Given the description of an element on the screen output the (x, y) to click on. 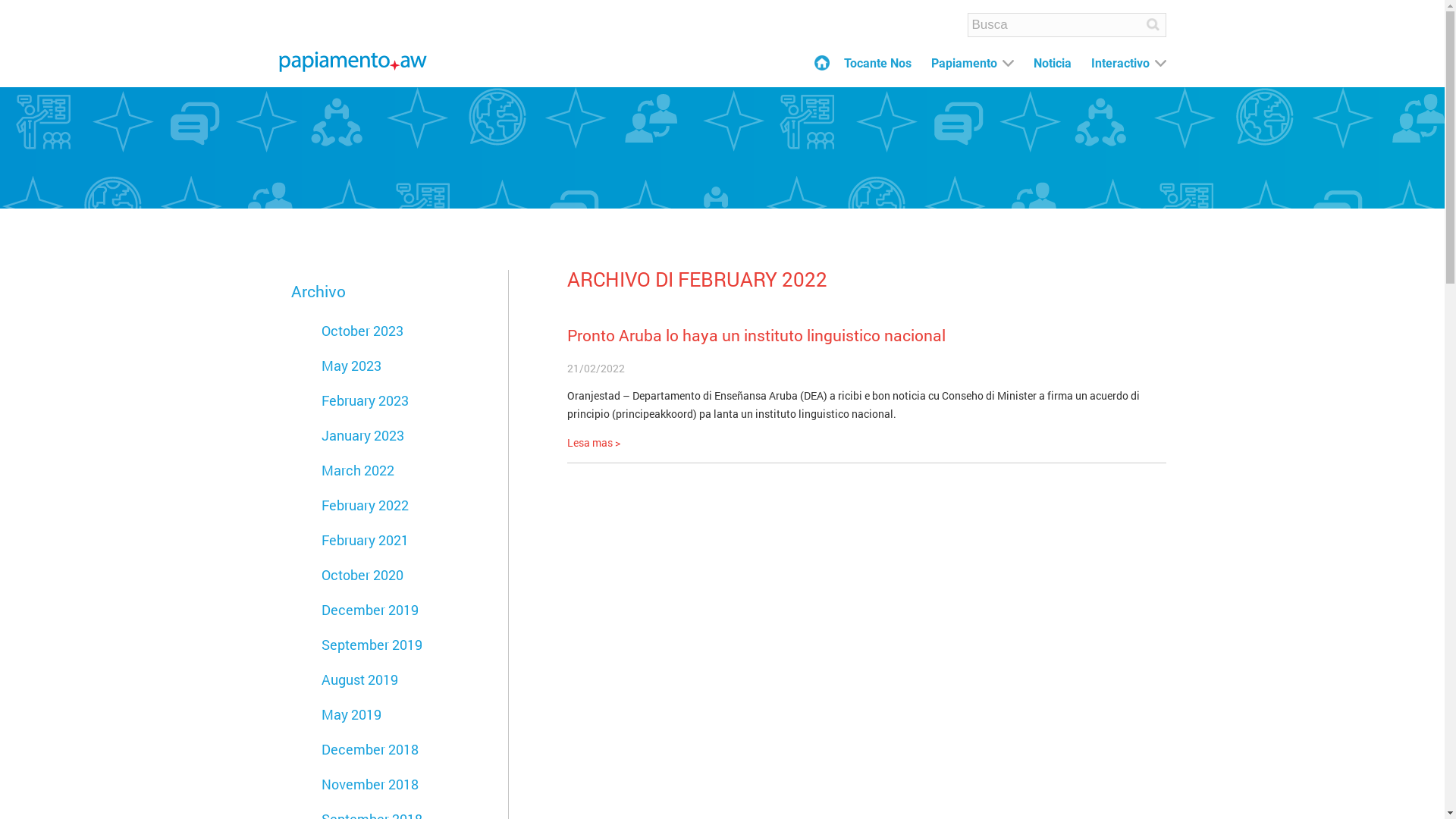
December 2018 Element type: text (369, 749)
September 2019 Element type: text (371, 644)
Tocante Nos Element type: text (876, 63)
Papiamento Element type: text (352, 61)
March 2022 Element type: text (357, 470)
Lesa mas > Element type: text (593, 442)
December 2019 Element type: text (369, 609)
Papiamento Element type: text (964, 63)
May 2023 Element type: text (351, 365)
October 2023 Element type: text (362, 330)
Interactivo Element type: text (1119, 63)
February 2022 Element type: text (364, 504)
October 2020 Element type: text (362, 574)
November 2018 Element type: text (369, 784)
Pronto Aruba lo haya un instituto linguistico nacional Element type: text (756, 334)
Home Element type: text (821, 62)
May 2019 Element type: text (351, 714)
August 2019 Element type: text (359, 679)
January 2023 Element type: text (362, 435)
February 2021 Element type: text (364, 539)
Noticia Element type: text (1051, 63)
February 2023 Element type: text (364, 400)
